Given the description of an element on the screen output the (x, y) to click on. 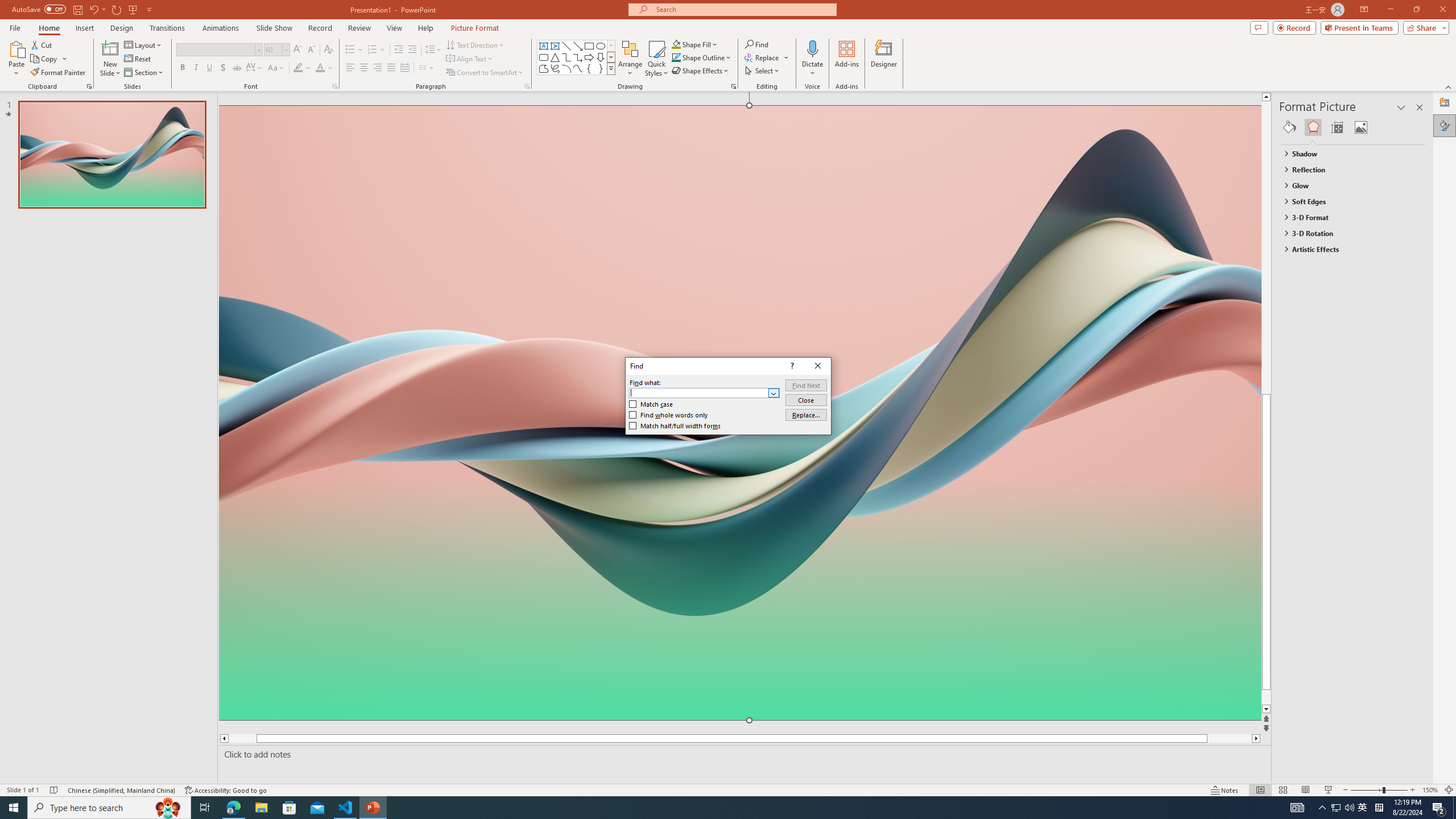
Match case (651, 403)
Accessibility Checker Accessibility: Good to go (226, 790)
